Given the description of an element on the screen output the (x, y) to click on. 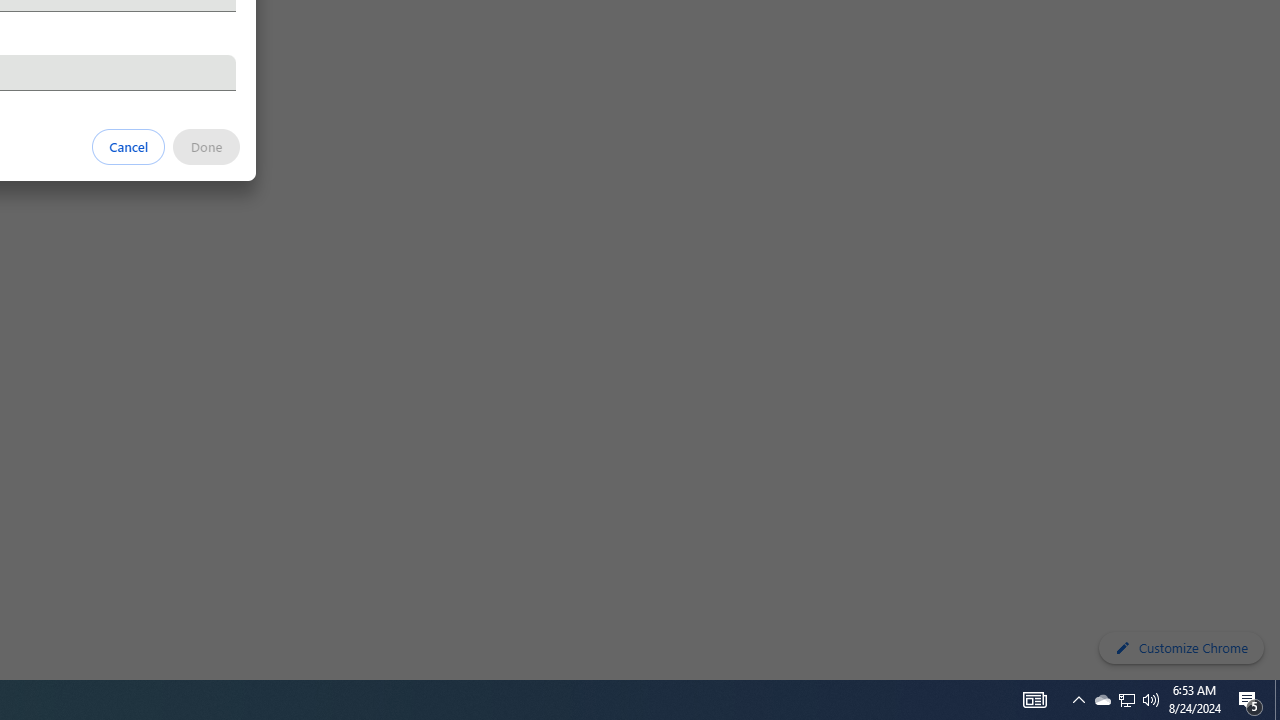
Done (206, 146)
Cancel (129, 146)
